Given the description of an element on the screen output the (x, y) to click on. 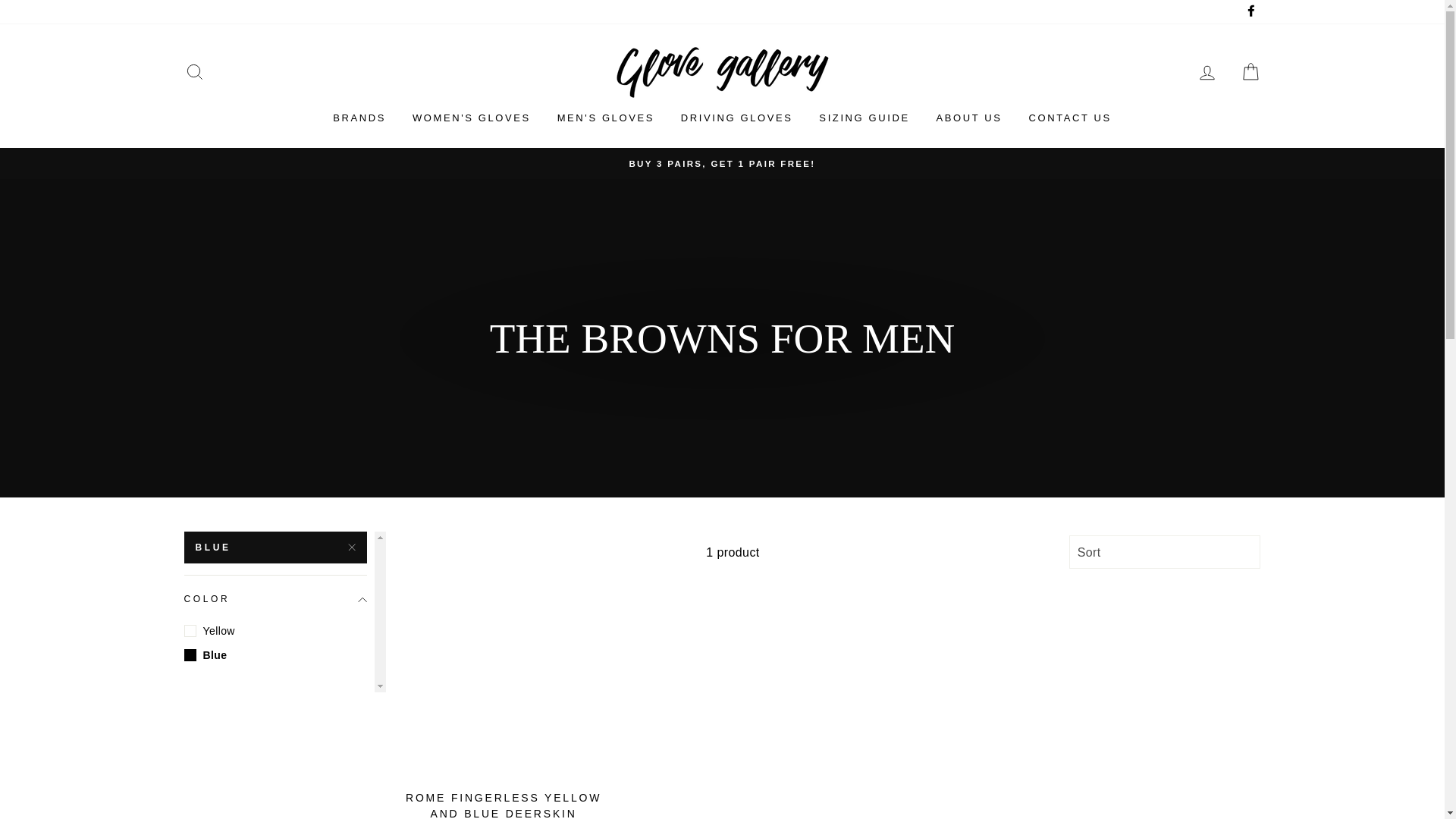
CONTACT US (1069, 118)
DRIVING GLOVES (737, 118)
BRANDS (359, 118)
SEARCH (194, 72)
MEN'S GLOVES (605, 118)
ABOUT US (968, 118)
LOG IN (1207, 72)
WOMEN'S GLOVES (471, 118)
Remove tag Blue (274, 654)
Remove tag Blue (274, 547)
